Given the description of an element on the screen output the (x, y) to click on. 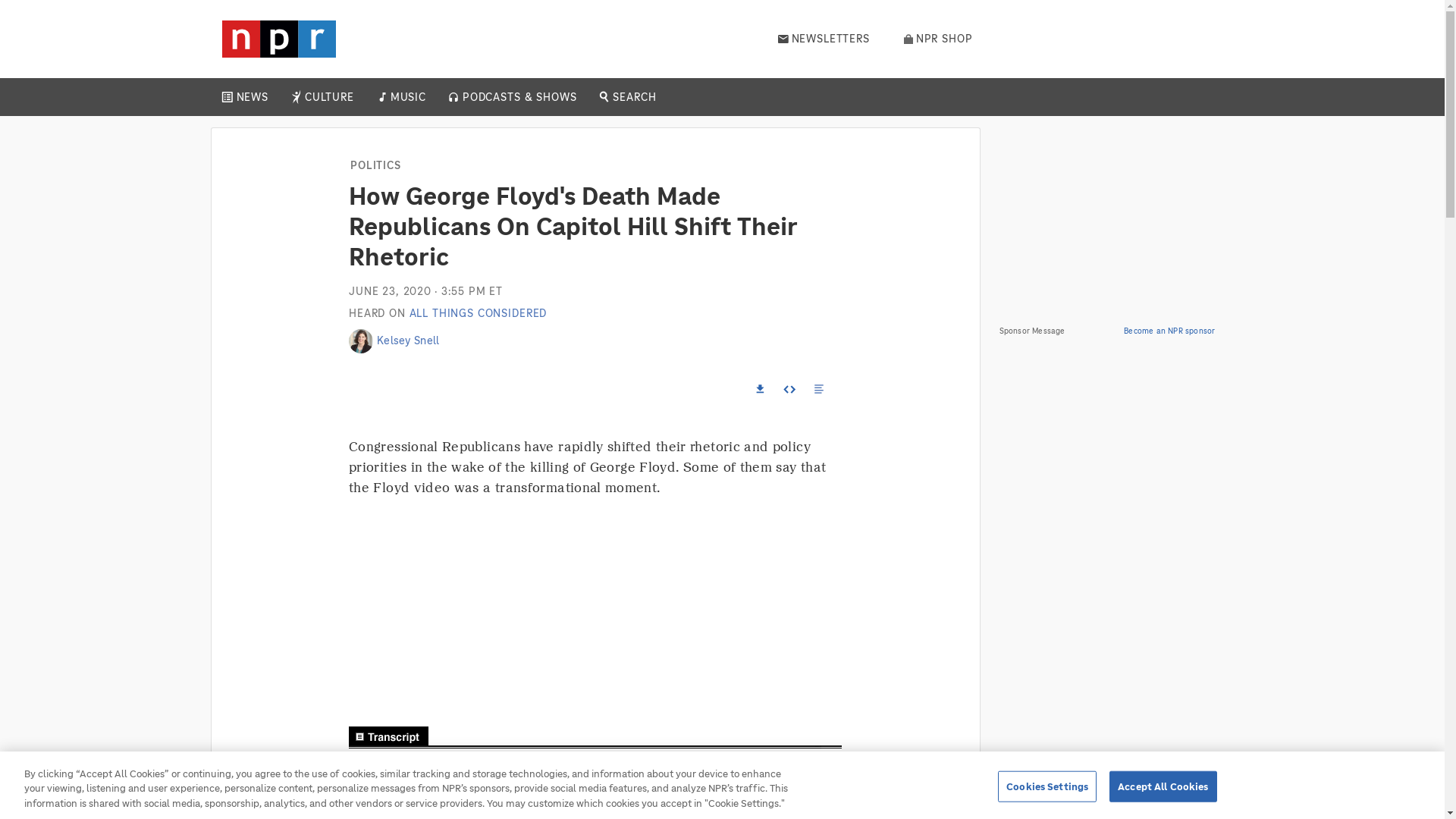
MUSIC (407, 96)
NEWSLETTERS (823, 38)
NPR SHOP (938, 38)
CULTURE (328, 96)
NEWS (251, 96)
